Given the description of an element on the screen output the (x, y) to click on. 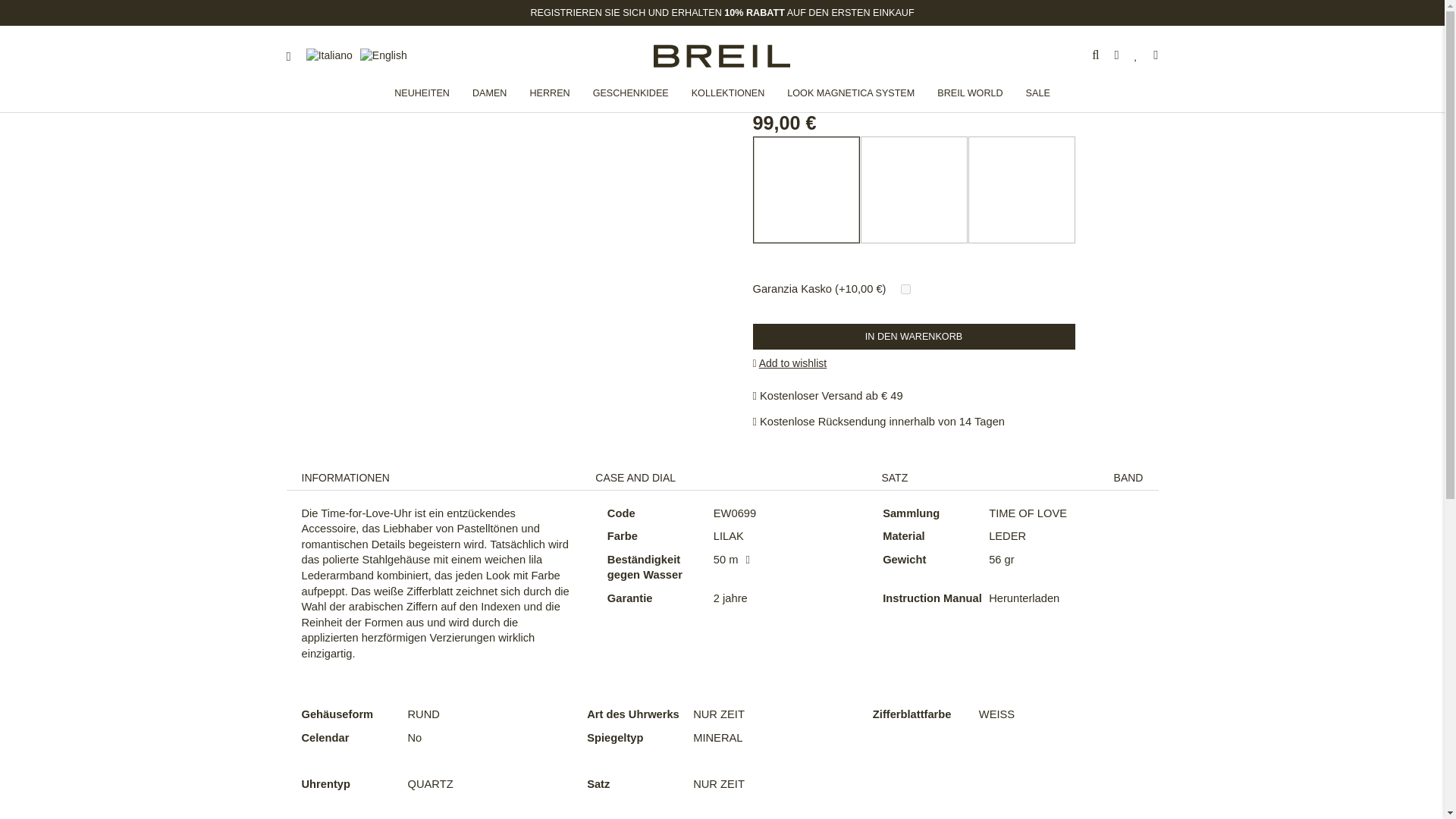
HERREN (549, 93)
Add to wishlist (789, 363)
DAMEN (489, 93)
garanzia-kasko (906, 289)
NEUHEITEN (421, 93)
